Given the description of an element on the screen output the (x, y) to click on. 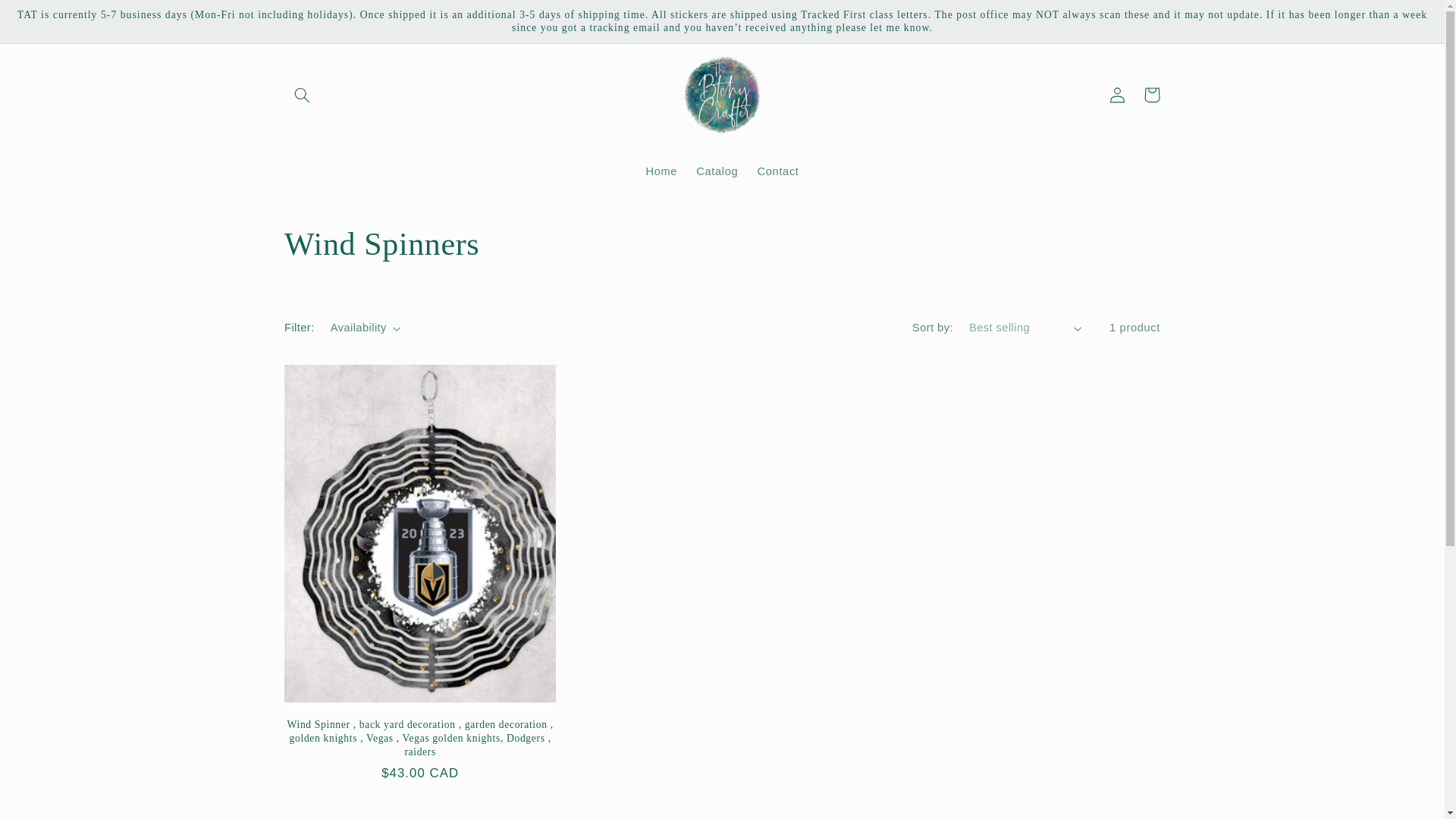
Contact (778, 171)
Catalog (717, 171)
Skip to content (48, 18)
Cart (1151, 94)
Log in (1116, 94)
Home (661, 171)
